Given the description of an element on the screen output the (x, y) to click on. 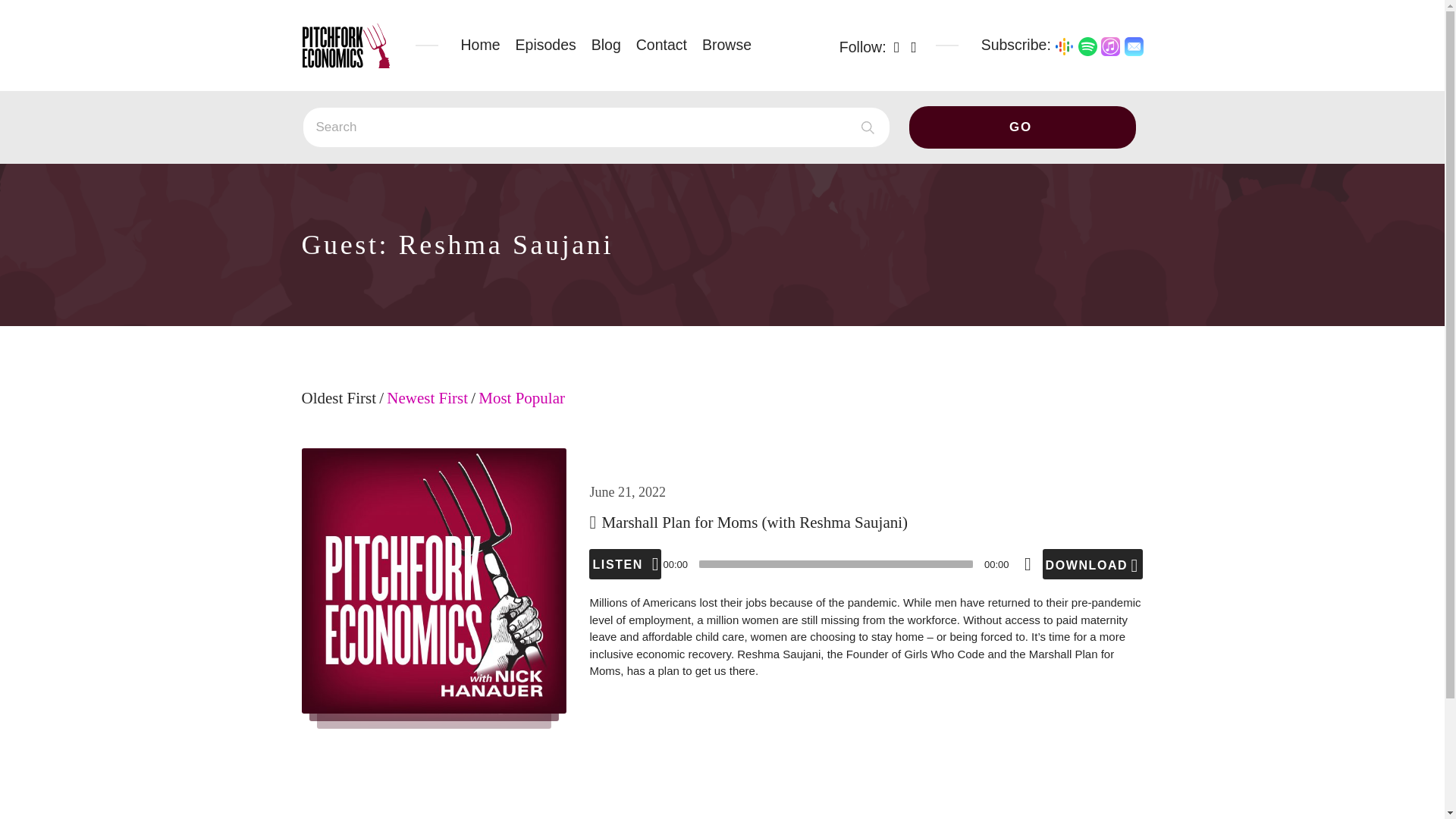
Blog (605, 44)
Newest First (427, 407)
Episodes (545, 44)
Most Popular (521, 407)
Oldest First (339, 407)
Play (625, 563)
Go (1022, 127)
Go (1022, 127)
Go (1022, 127)
Browse (726, 44)
Contact (661, 44)
Home (480, 44)
Mute (1027, 563)
Search (596, 127)
June 21, 2022 (627, 491)
